Given the description of an element on the screen output the (x, y) to click on. 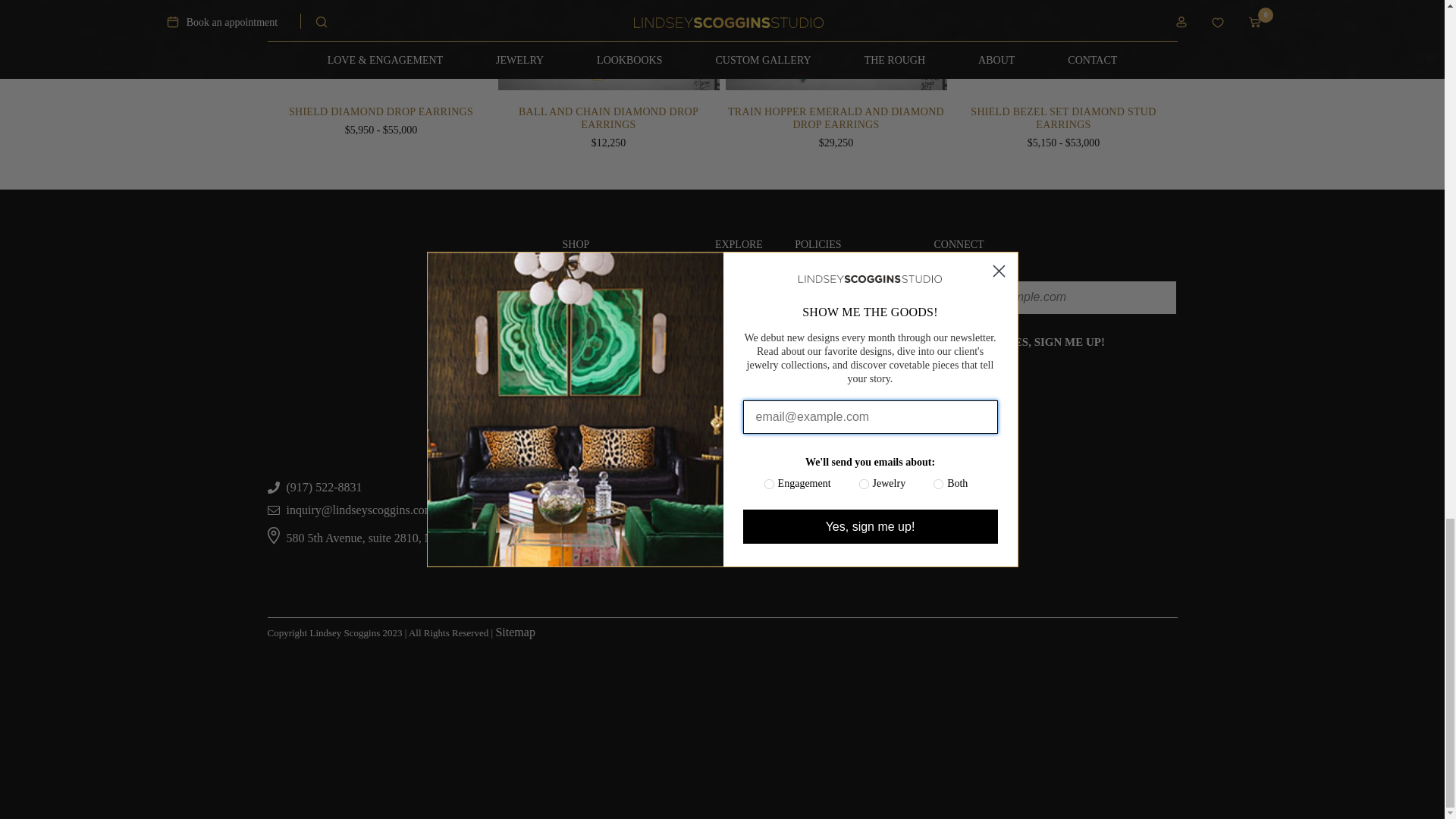
social-instagram (969, 388)
Untitled-1 (943, 388)
